Given the description of an element on the screen output the (x, y) to click on. 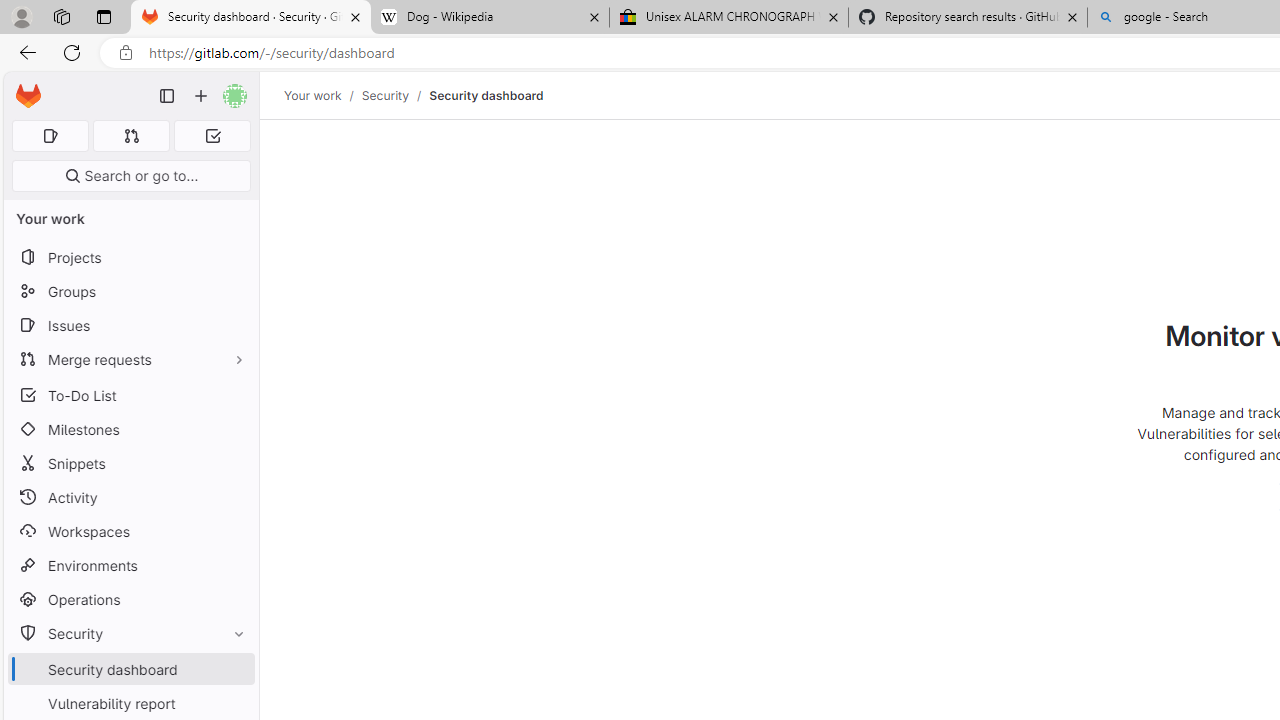
Operations (130, 599)
Security dashboard (486, 95)
Issues (130, 325)
Primary navigation sidebar (167, 96)
Your work/ (323, 95)
Projects (130, 257)
Environments (130, 564)
Projects (130, 257)
Operations (130, 599)
Snippets (130, 463)
Vulnerability report (130, 703)
Environments (130, 564)
